Given the description of an element on the screen output the (x, y) to click on. 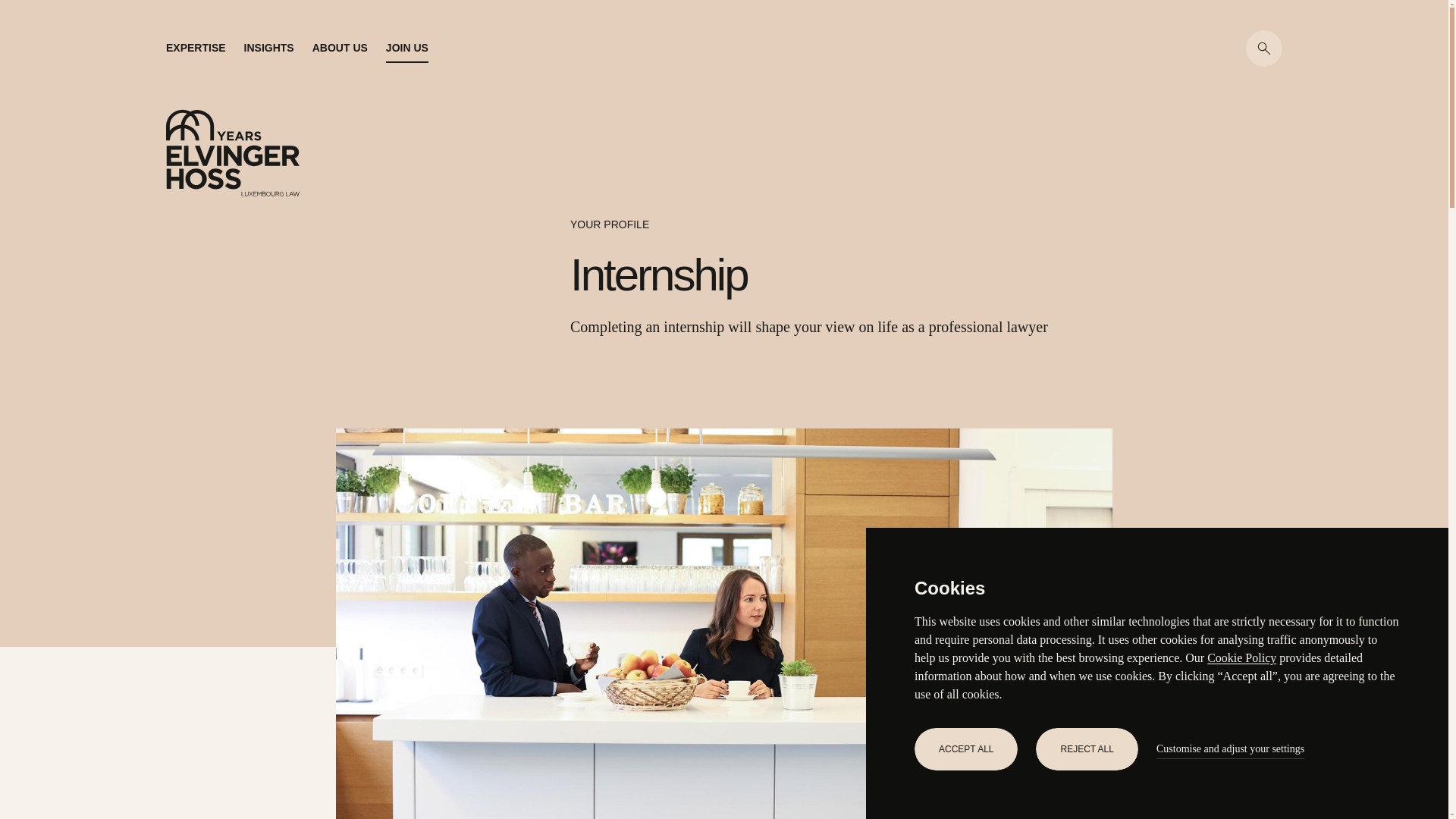
EXPERTISE (195, 51)
Elvinger Hoss - Luxembourg Law (232, 152)
Search (1264, 48)
